Given the description of an element on the screen output the (x, y) to click on. 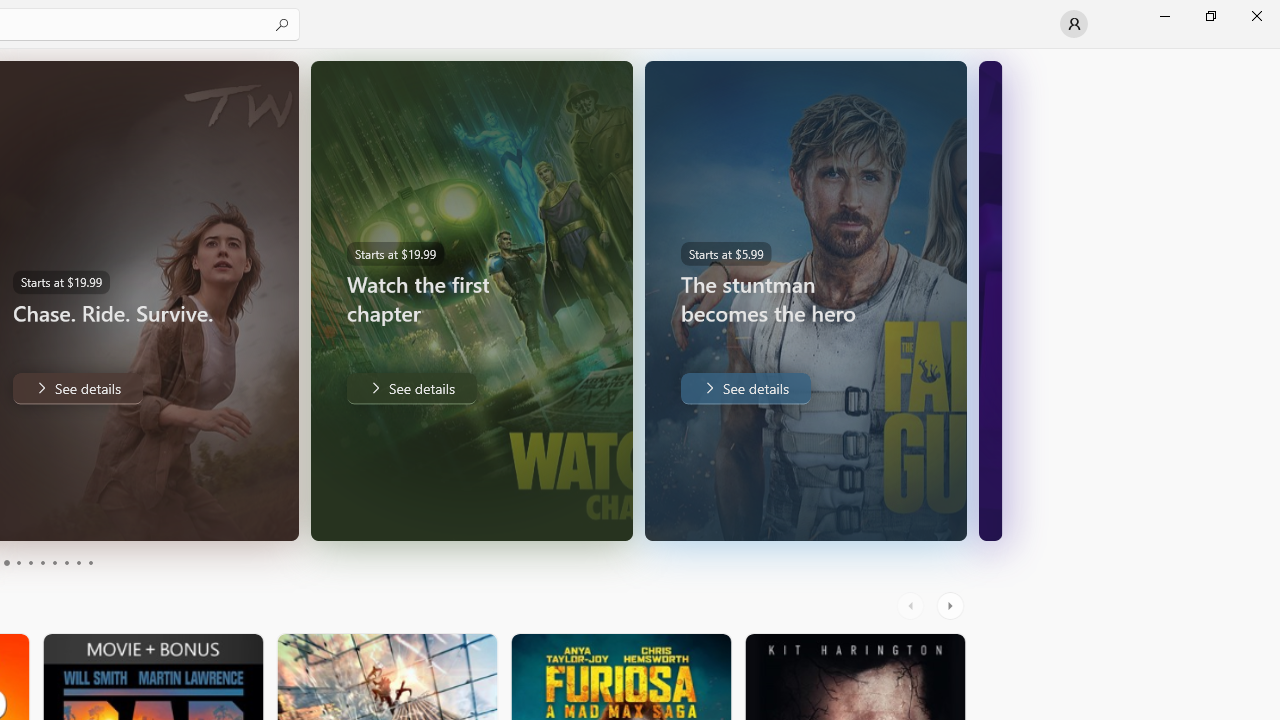
Page 8 (65, 562)
AutomationID: LeftScrollButton (913, 606)
AutomationID: RightScrollButton (952, 606)
